Given the description of an element on the screen output the (x, y) to click on. 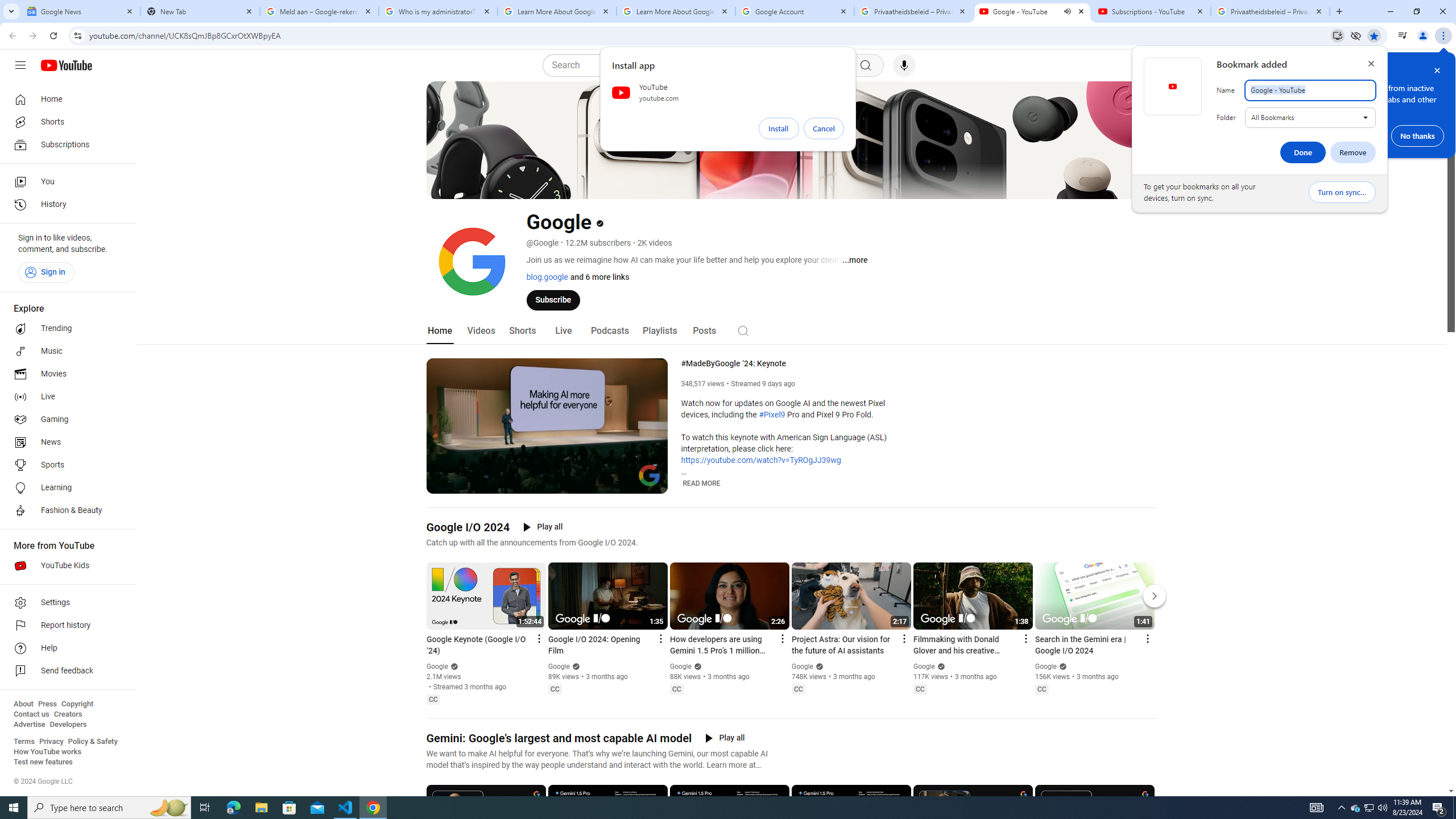
Shorts (521, 330)
Subtitles/closed captions unavailable (609, 483)
Action Center, 2 new notifications (1439, 807)
History (64, 204)
Gaming (64, 419)
Seek slider (546, 471)
https://youtube.com/watch?v=TyROgJJ39wg (761, 460)
Live (562, 330)
Developers (68, 724)
Search highlights icon opens search home window (167, 807)
AutomationID: 4105 (1316, 807)
